Given the description of an element on the screen output the (x, y) to click on. 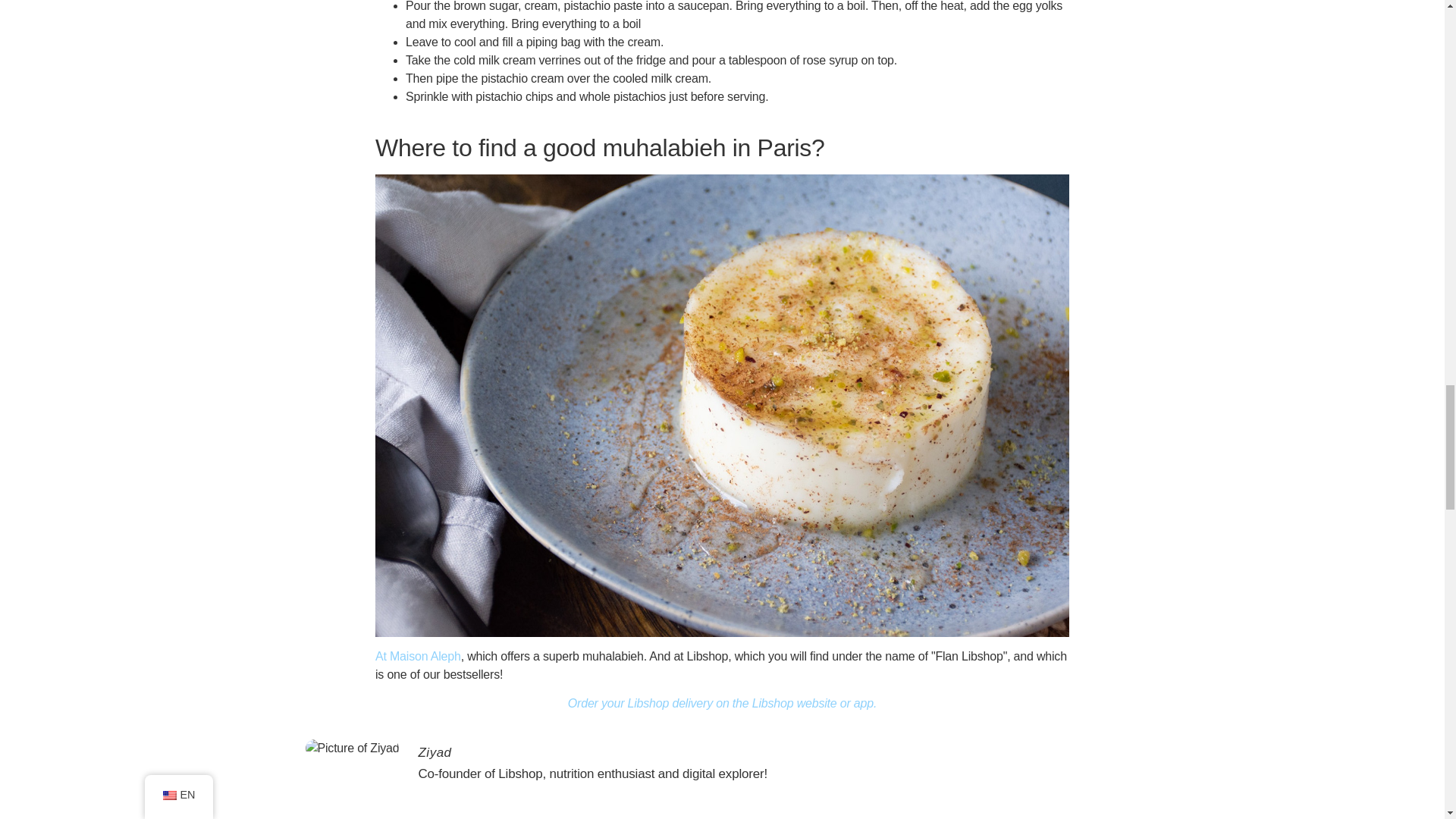
Order your Libshop delivery on the Libshop website or app. (721, 703)
At Maison Aleph (418, 656)
